Given the description of an element on the screen output the (x, y) to click on. 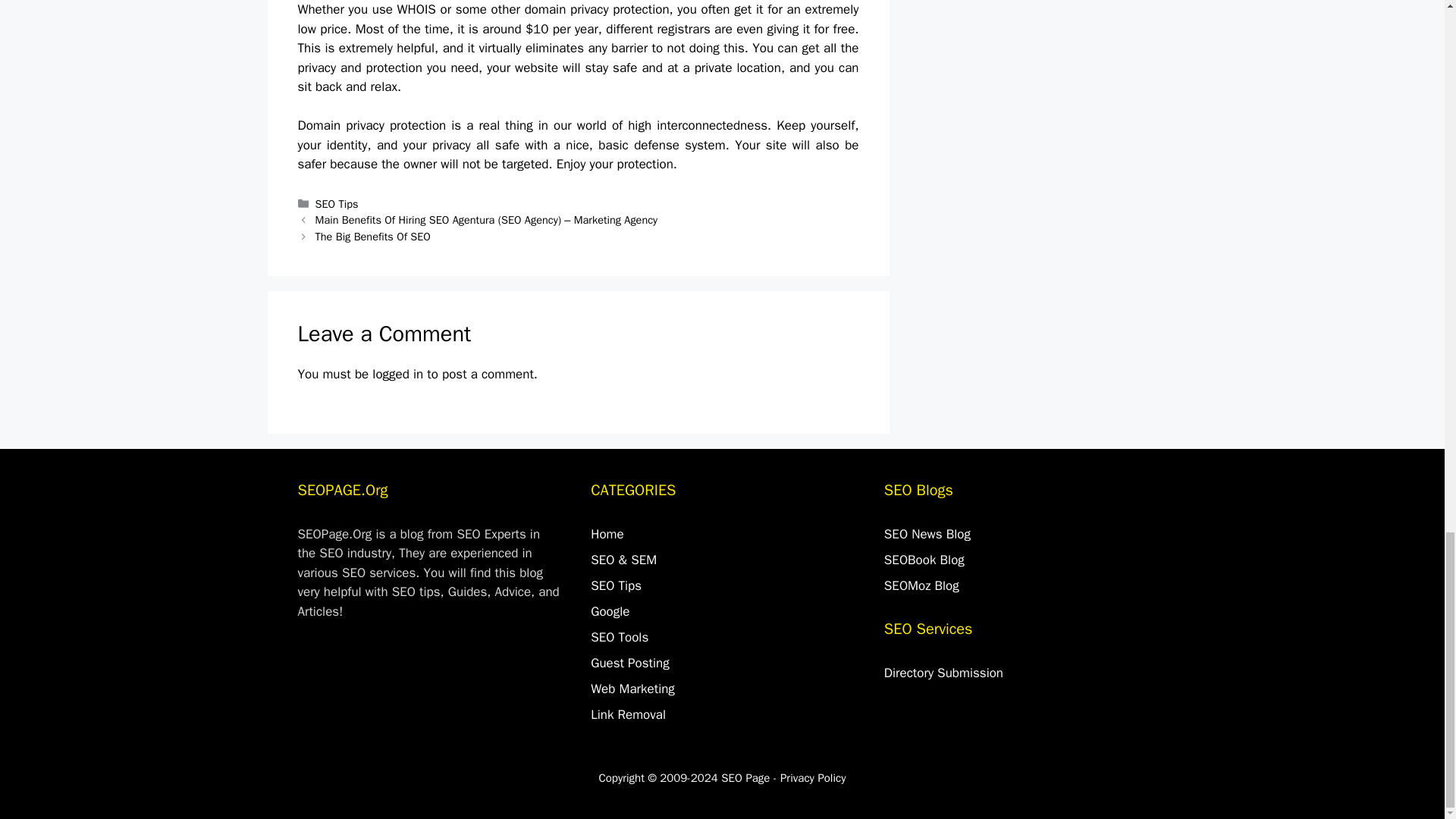
SEO Tips (616, 585)
Home (607, 534)
News and information about search engine  (927, 534)
SEO Tips (336, 203)
logged in (397, 374)
SEO Tools (619, 637)
The Big Benefits Of SEO (372, 236)
Google (609, 611)
giving it for free (811, 28)
